Given the description of an element on the screen output the (x, y) to click on. 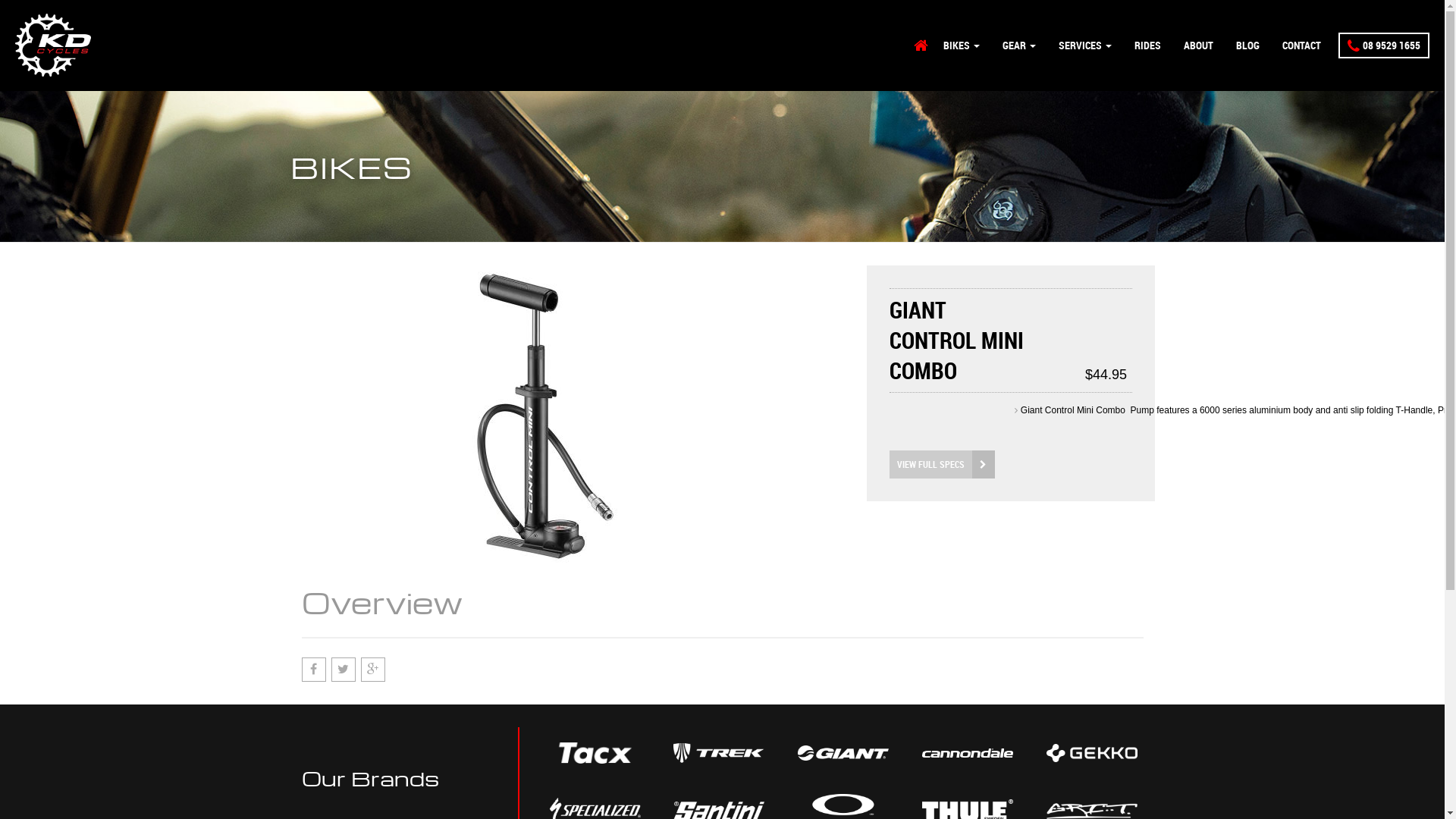
BIKES Element type: text (961, 45)
CONTACT Element type: text (1301, 45)
VIEW FULL SPECS Element type: text (941, 464)
BLOG Element type: text (1247, 45)
RIDES Element type: text (1147, 45)
08 9529 1655 Element type: text (1383, 45)
SERVICES Element type: text (1085, 45)
ABOUT Element type: text (1198, 45)
HOME Element type: text (920, 45)
GEAR Element type: text (1019, 45)
